Given the description of an element on the screen output the (x, y) to click on. 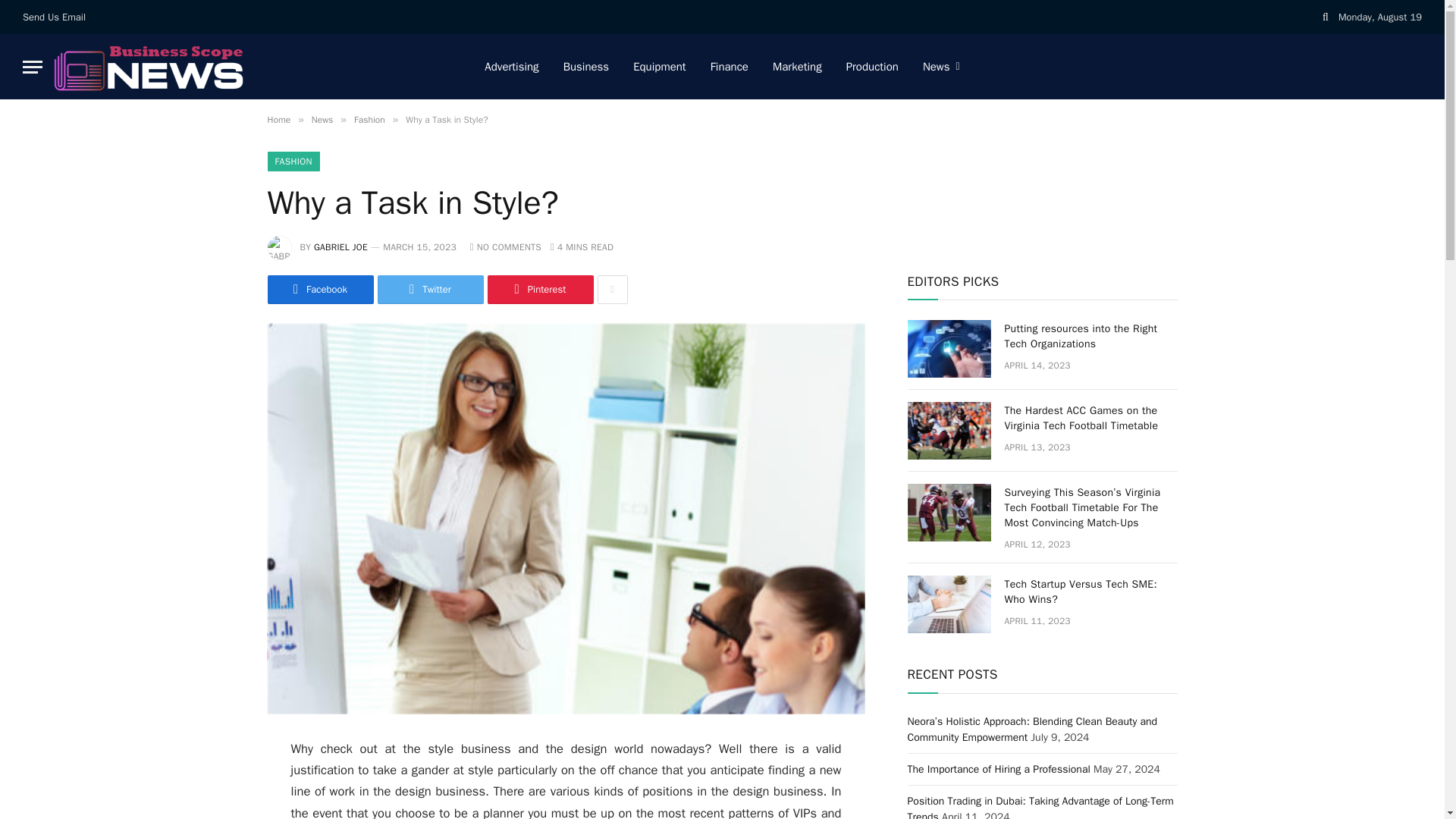
Business Scope News (148, 66)
Production (872, 66)
FASHION (292, 161)
Business (586, 66)
Share on Pinterest (539, 289)
Finance (729, 66)
Home (277, 119)
Share on Facebook (319, 289)
Fashion (369, 119)
News (322, 119)
